Given the description of an element on the screen output the (x, y) to click on. 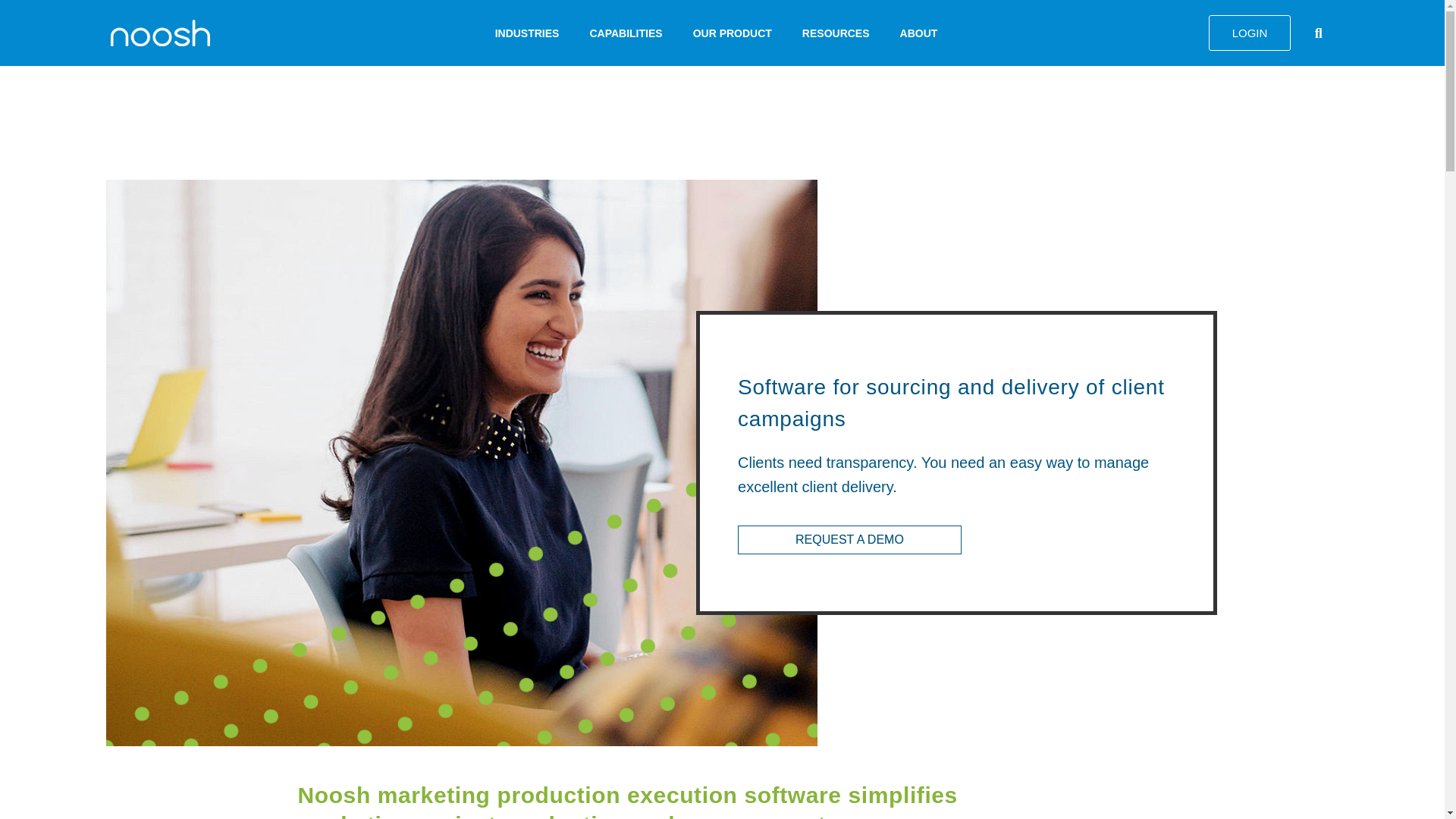
RESOURCES (836, 32)
OUR PRODUCT (732, 32)
INDUSTRIES (527, 32)
ABOUT (919, 32)
CAPABILITIES (625, 32)
